Given the description of an element on the screen output the (x, y) to click on. 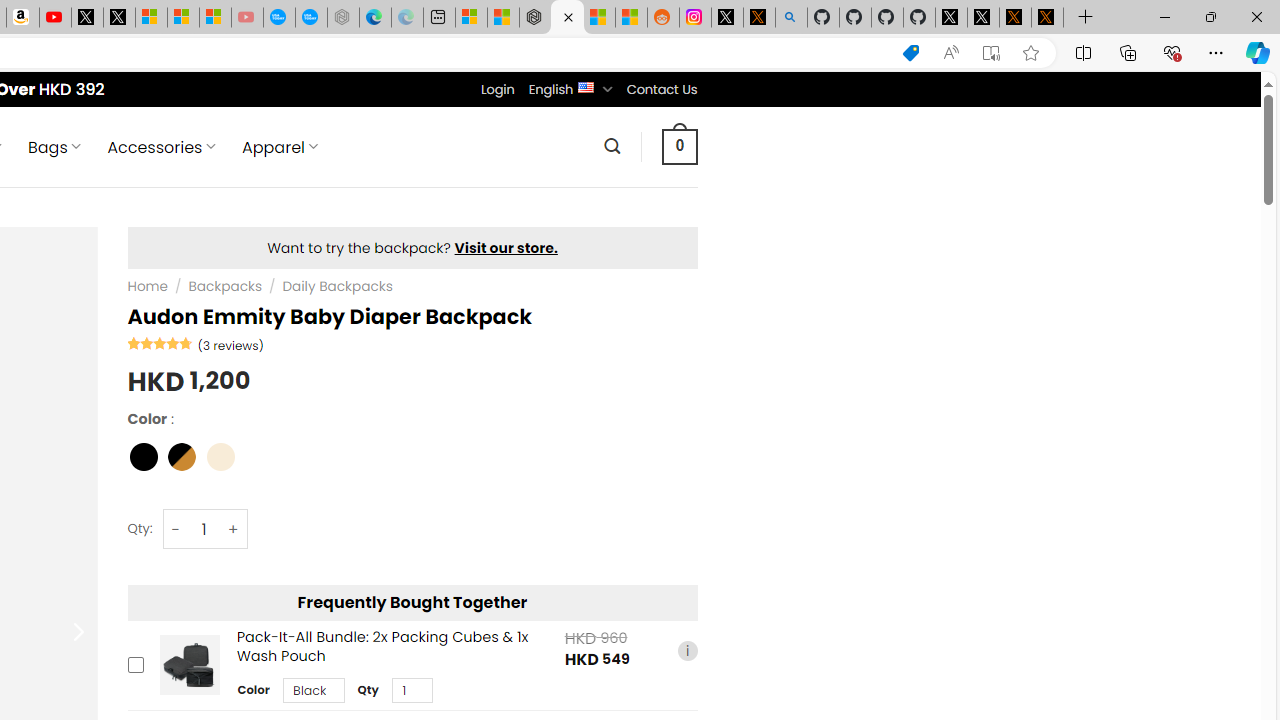
Opinion: Op-Ed and Commentary - USA TODAY (279, 17)
 0  (679, 146)
Add this product to cart (134, 664)
github - Search (791, 17)
(3 reviews) (230, 344)
+ (234, 529)
